Given the description of an element on the screen output the (x, y) to click on. 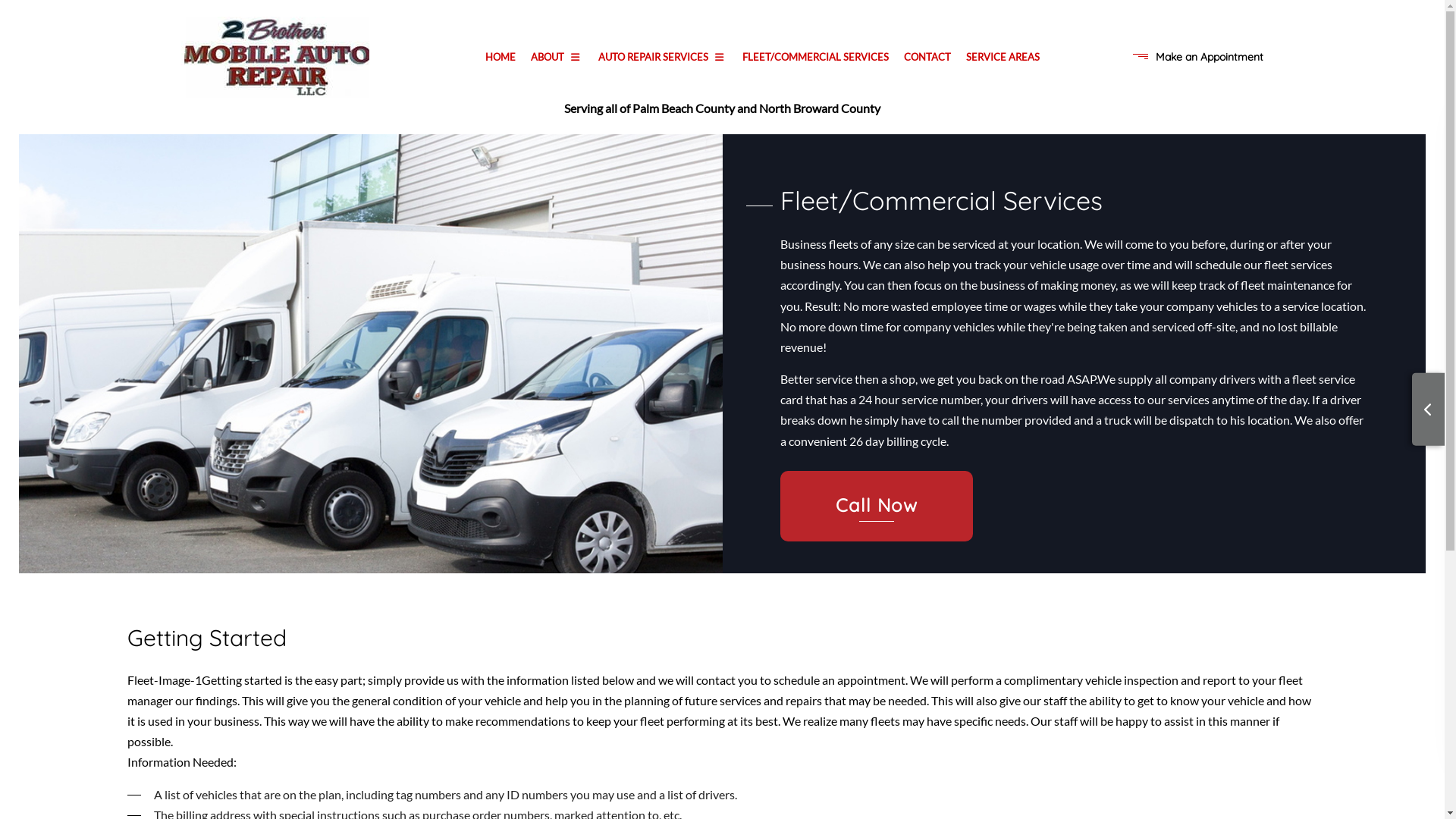
BRAKE SERVICE Element type: text (543, 223)
SUSPENSION SERVICE Element type: text (543, 155)
GALLERY Element type: text (437, 132)
CAR MAINTENANCE Element type: text (748, 246)
ABOUT Element type: text (556, 57)
TIRE BALANCING Element type: text (543, 314)
BRAKE REPLACEMENT Element type: text (748, 200)
AUTO SERVICE Element type: text (748, 177)
MUFFLER REPAIR Element type: text (543, 291)
OIL CHANGE Element type: text (748, 291)
ENGINE CLEANING SERVICES Element type: text (543, 268)
FLEET/COMMERCIAL SERVICES Element type: text (815, 57)
AC / HEATING SERVICE Element type: text (543, 109)
AUTO AIR CONDITIONING Element type: text (748, 109)
AUTO REPAIR SERVICES Element type: text (662, 57)
TIRE ROTATION Element type: text (543, 337)
AUTO TUNE-UP Element type: text (748, 132)
HOME Element type: text (500, 57)
Make an Appointment Element type: text (1209, 56)
CAR BATTERY REPLACEMENT Element type: text (748, 223)
TIRE REPAIR Element type: text (748, 314)
CAR DIAGNOSTICS Element type: text (543, 246)
ENGINE REPAIR Element type: text (748, 268)
BLOG Element type: text (437, 109)
SERVICE AREAS Element type: text (1002, 57)
AUTO ELECTRICAL REPAIR Element type: text (748, 155)
VEHICLE INSPECTION Element type: text (748, 337)
FAQ Element type: text (642, 109)
CONTACT Element type: text (927, 57)
Call Now Element type: text (876, 505)
TESTIMONIALS Element type: text (642, 132)
AUTO MECHANIC Element type: text (543, 177)
AUTO SUSPENSION REPAIR Element type: text (543, 132)
BRAKE REPAIR Element type: text (543, 200)
